Given the description of an element on the screen output the (x, y) to click on. 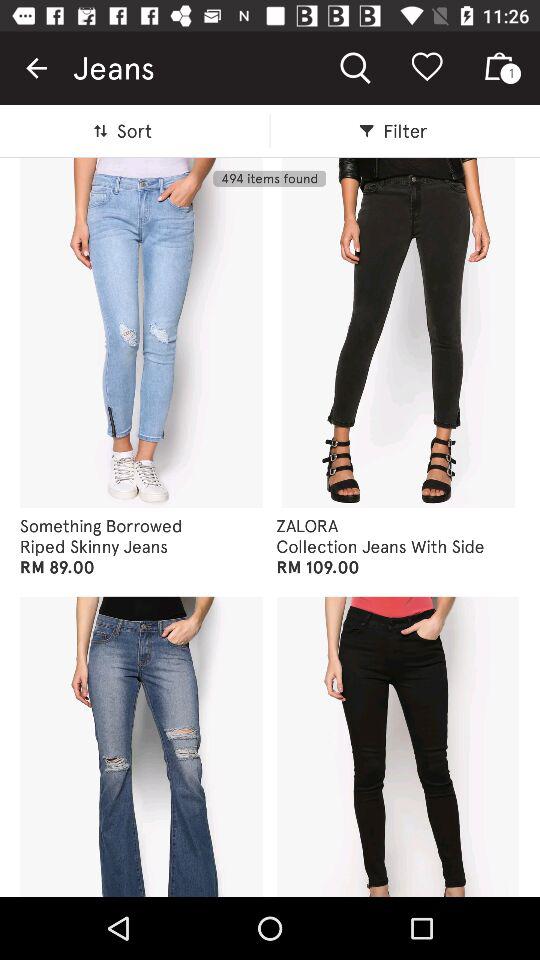
launch icon to the left of jeans item (36, 68)
